Given the description of an element on the screen output the (x, y) to click on. 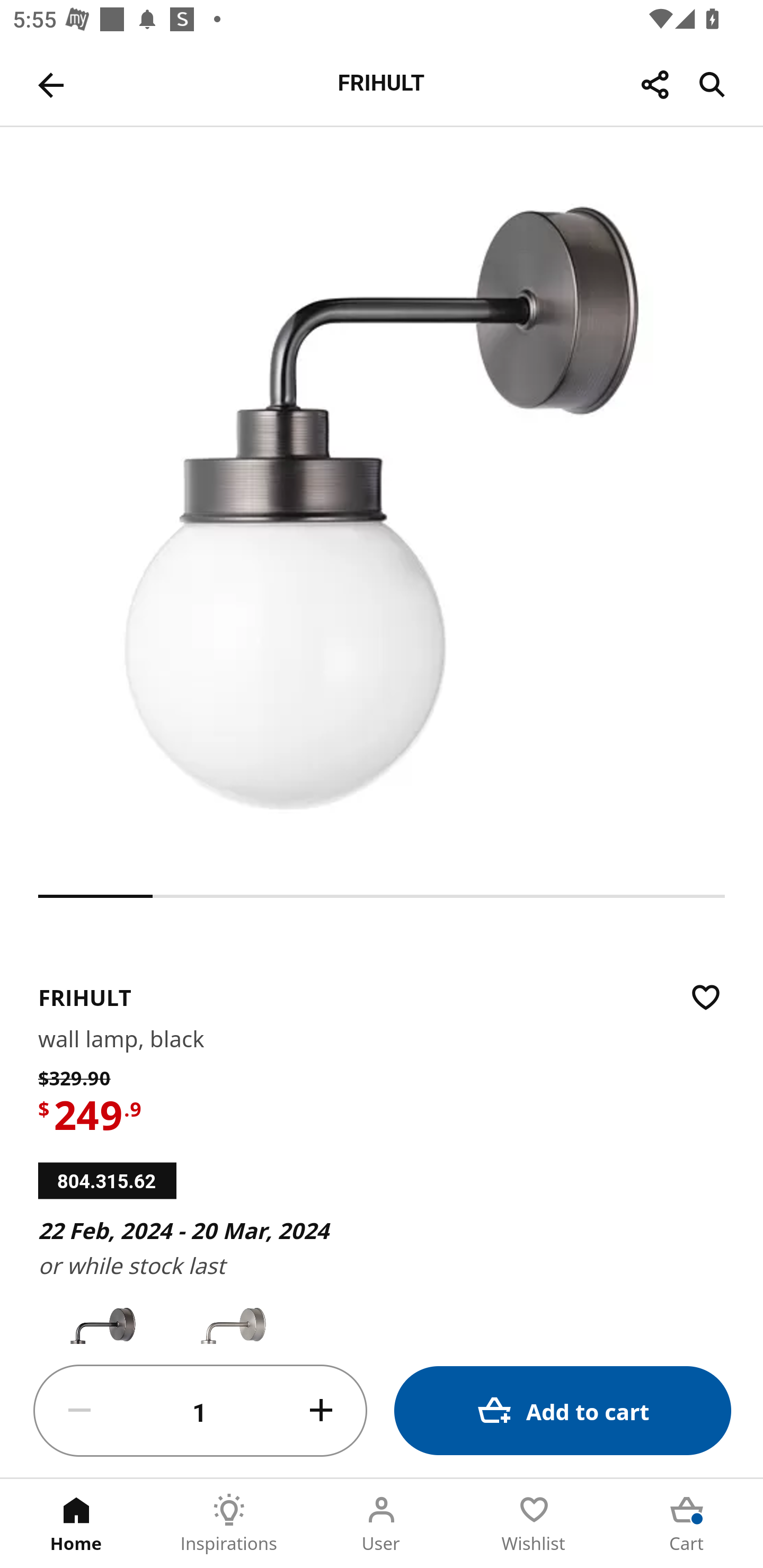
Add to cart (562, 1410)
1 (200, 1411)
Home
Tab 1 of 5 (76, 1522)
Inspirations
Tab 2 of 5 (228, 1522)
User
Tab 3 of 5 (381, 1522)
Wishlist
Tab 4 of 5 (533, 1522)
Cart
Tab 5 of 5 (686, 1522)
